Given the description of an element on the screen output the (x, y) to click on. 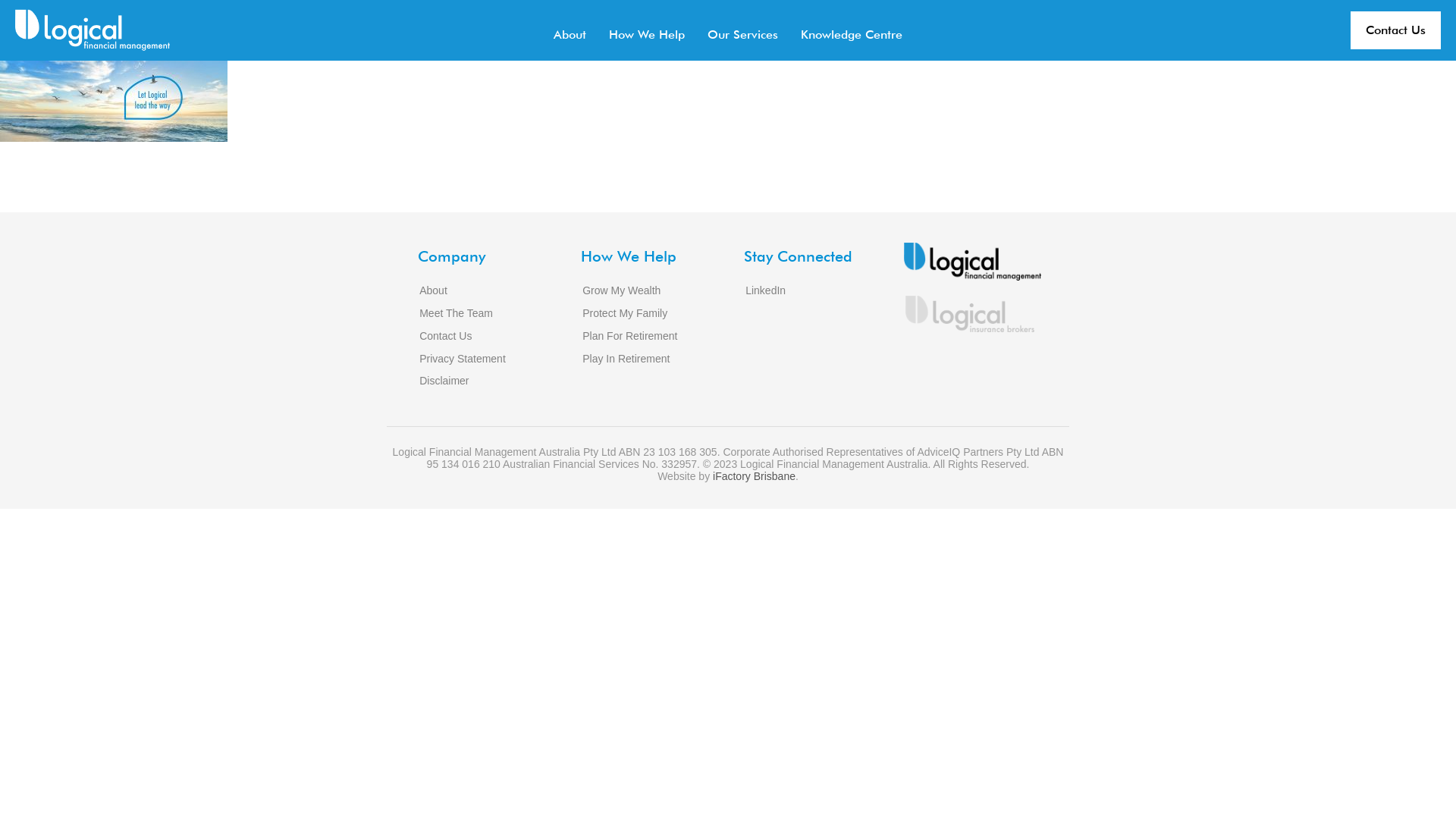
Play In Retirement Element type: text (624, 358)
Knowledge Centre Element type: text (851, 30)
How We Help Element type: text (646, 30)
Financial Planning & Management, Sydney Element type: hover (92, 29)
Contact Us Element type: text (1395, 30)
Disclaimer Element type: text (442, 381)
Our Services Element type: text (742, 30)
Privacy Statement Element type: text (461, 358)
LinkedIn Element type: text (764, 290)
Protect My Family Element type: text (623, 313)
Plan For Retirement Element type: text (628, 336)
Grow My Wealth Element type: text (620, 290)
About Element type: text (569, 30)
Meet The Team Element type: text (454, 313)
About Element type: text (432, 290)
iFactory Brisbane Element type: text (753, 476)
Contact Us Element type: text (444, 336)
